Given the description of an element on the screen output the (x, y) to click on. 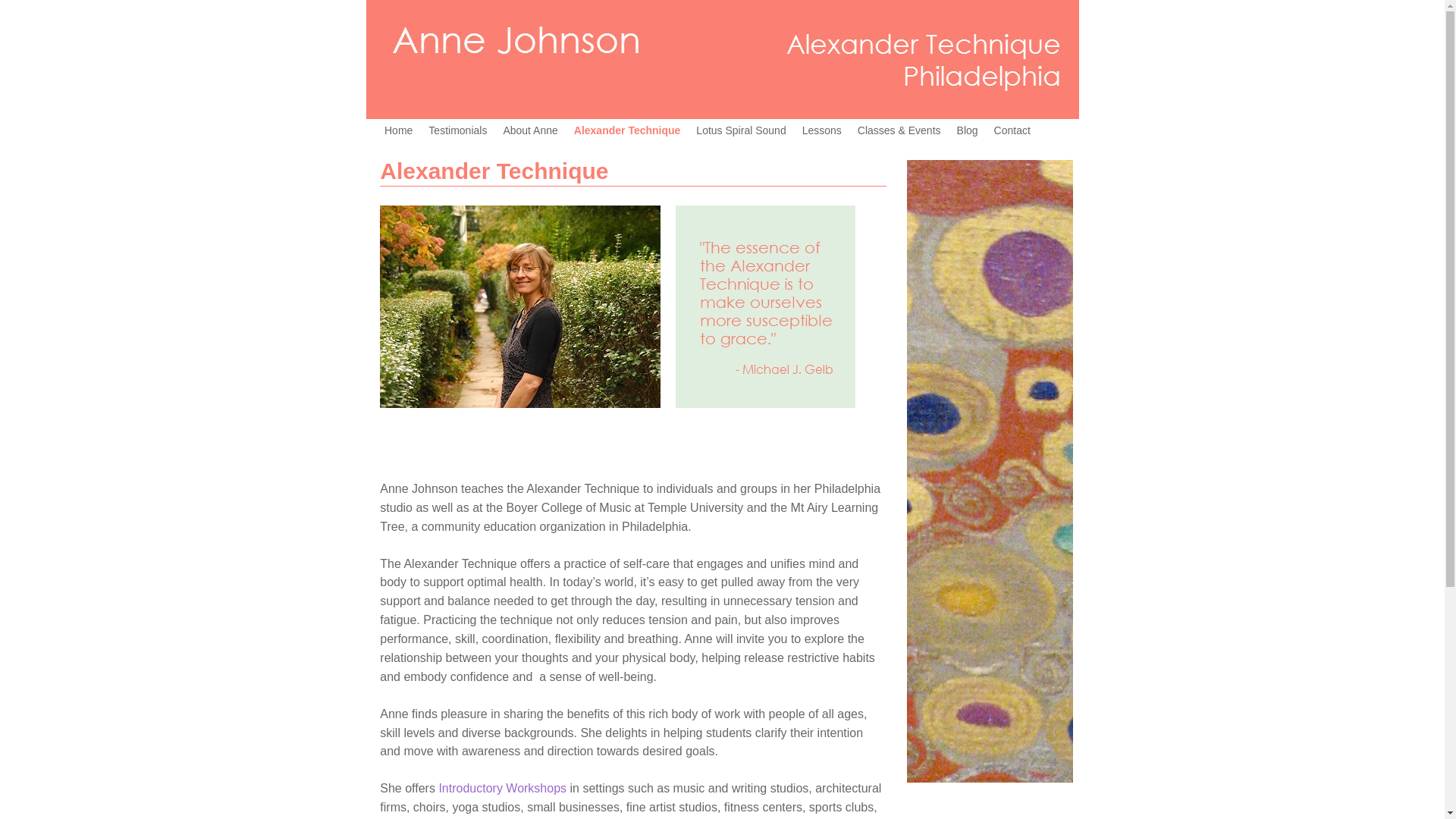
Contact (1011, 130)
Testimonials (457, 130)
Lessons (820, 130)
Blog (967, 130)
Anne Johnson (520, 306)
Lotus Spiral Sound (740, 130)
Alexander Technique (627, 130)
Home (397, 130)
About Anne (530, 130)
Introductory Workshops (502, 788)
